Given the description of an element on the screen output the (x, y) to click on. 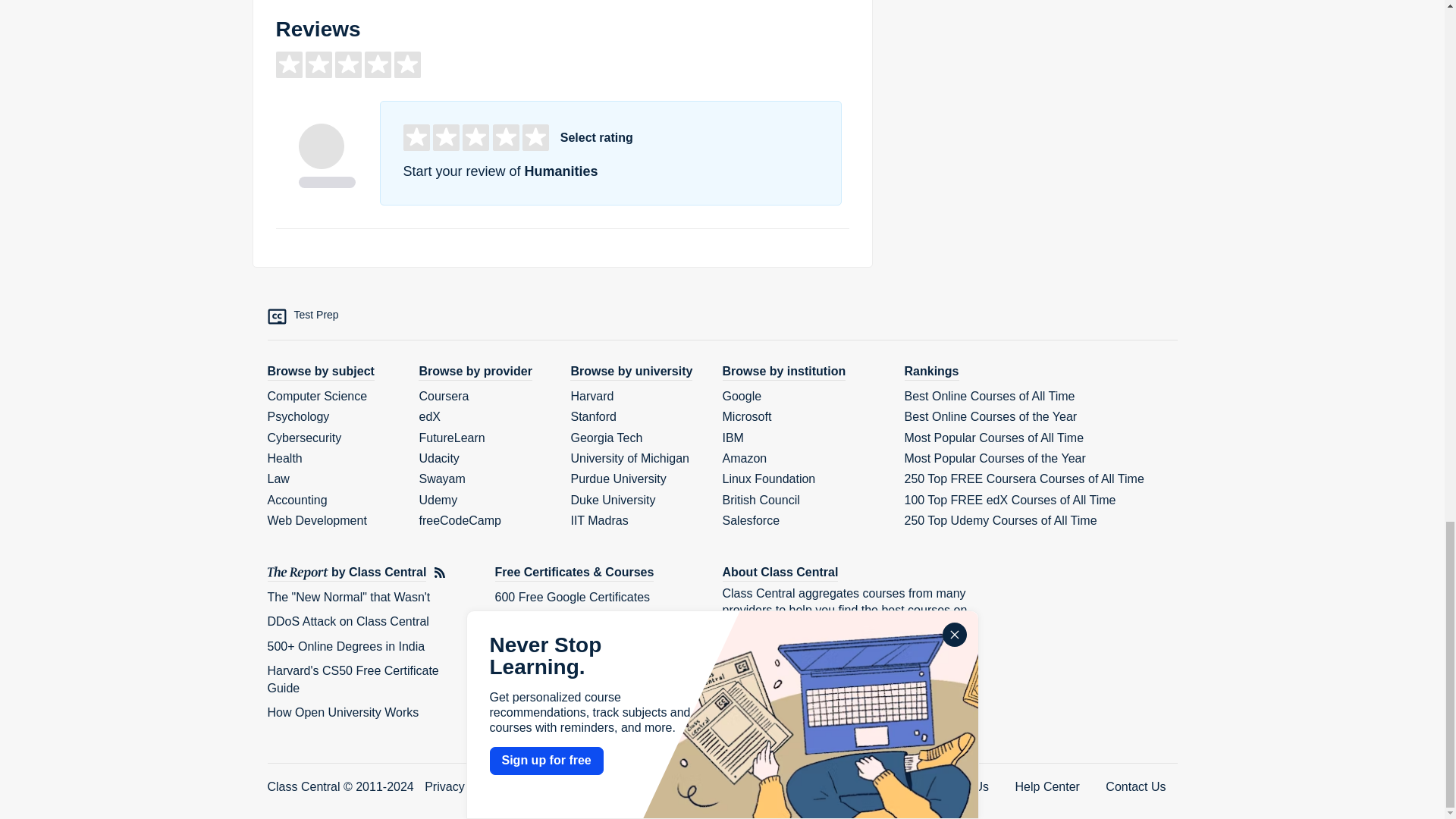
9000 Free Courses from Tech Giants (594, 621)
DDoS Attack on Class Central (347, 621)
1700 Free Coursera Courses (572, 645)
Ivy League Online Courses (567, 670)
The "New Normal" that Wasn't (347, 596)
How Open University Works (342, 712)
Free Courses and Certificates (574, 572)
600 Free Google Certificates (572, 596)
Harvard's CS50 Free Certificate Guide (352, 678)
